Given the description of an element on the screen output the (x, y) to click on. 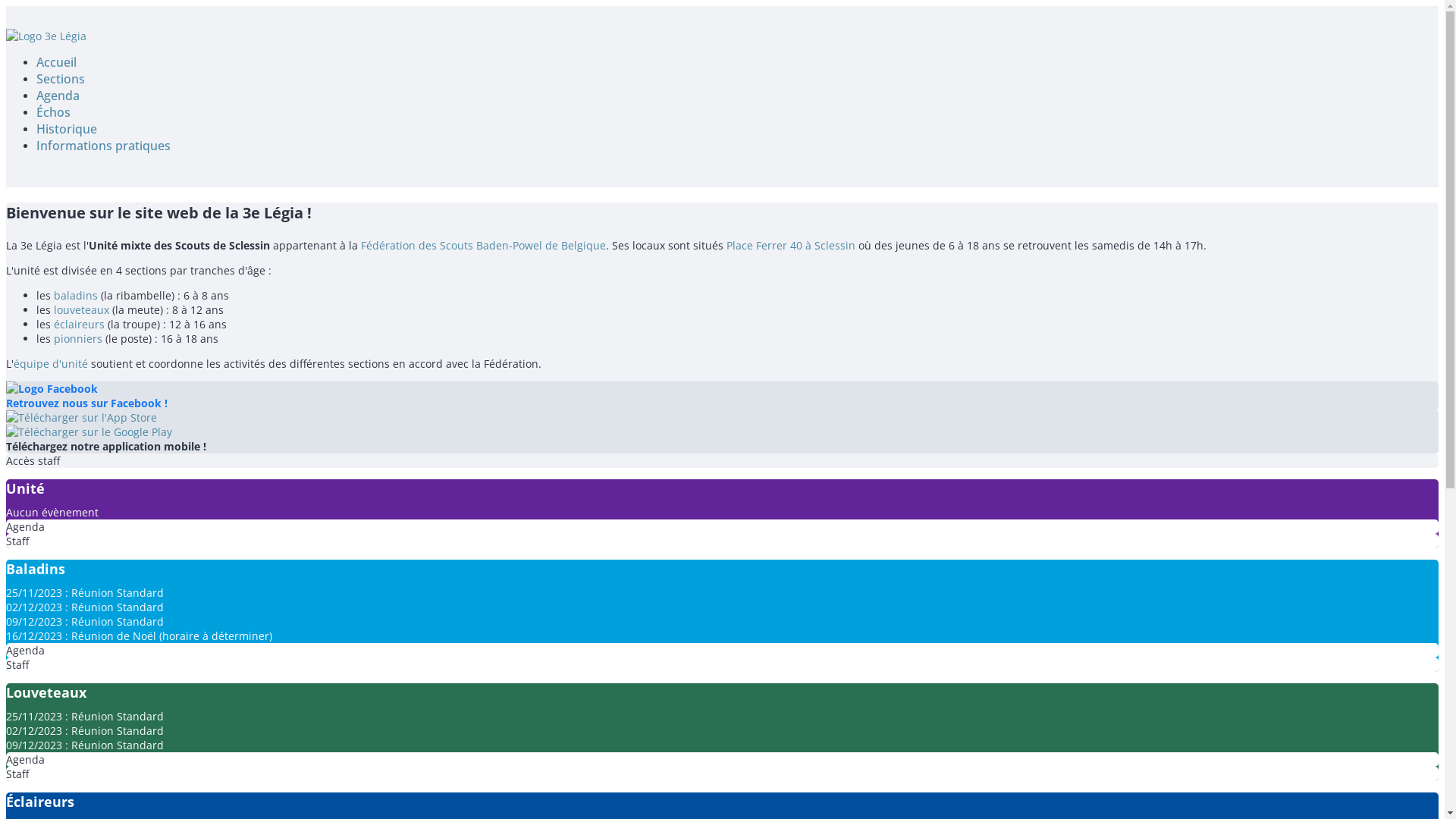
baladins Element type: text (75, 295)
Sections Element type: text (60, 78)
Staff Element type: text (722, 540)
Agenda Element type: text (722, 526)
Staff Element type: text (722, 773)
Retrouvez nous sur Facebook ! Element type: text (722, 395)
Agenda Element type: text (722, 759)
Agenda Element type: text (722, 650)
Accueil Element type: text (56, 61)
Informations pratiques Element type: text (103, 145)
pionniers Element type: text (77, 338)
Staff Element type: text (722, 664)
louveteaux Element type: text (81, 309)
Historique Element type: text (66, 128)
Agenda Element type: text (57, 95)
